Given the description of an element on the screen output the (x, y) to click on. 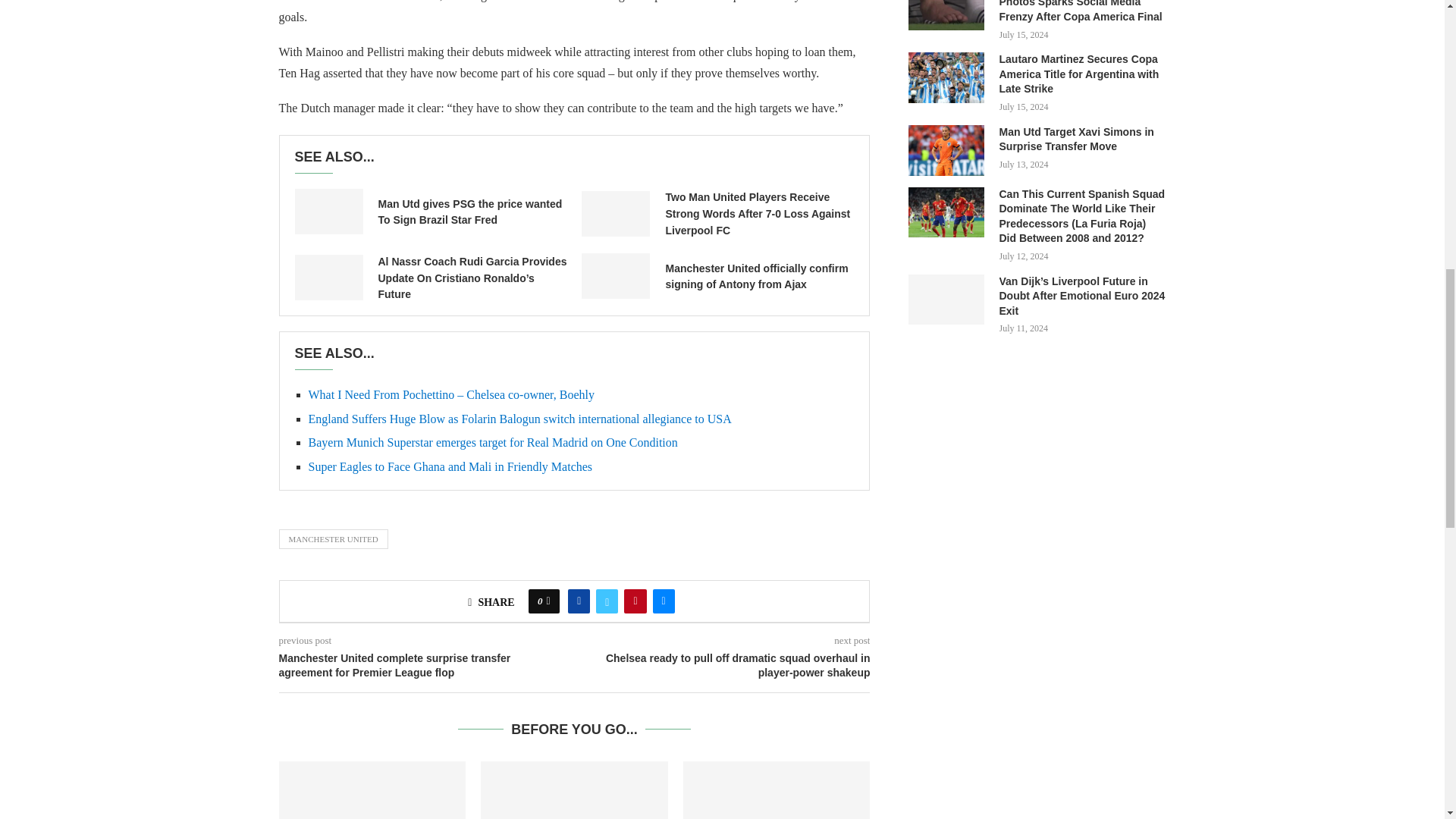
Man Utd gives PSG the price wanted To Sign Brazil Star Fred (328, 211)
Barcelona Make Official Offer to Leipzig for Olmo (372, 790)
Morata Makes Serie A Return with AC Milan in Four-Year Deal (574, 790)
